Given the description of an element on the screen output the (x, y) to click on. 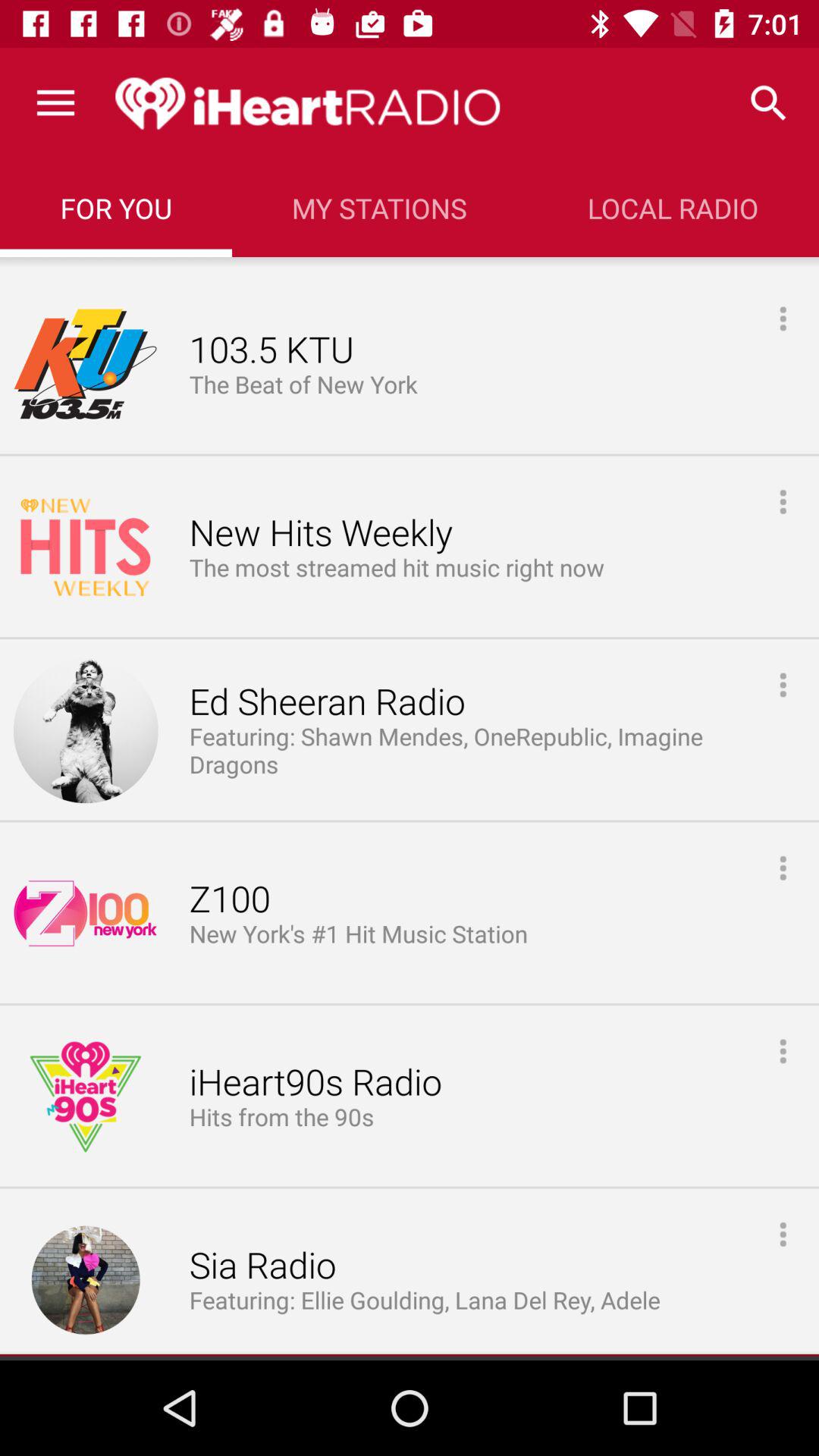
click the icon above the for you icon (55, 103)
